Given the description of an element on the screen output the (x, y) to click on. 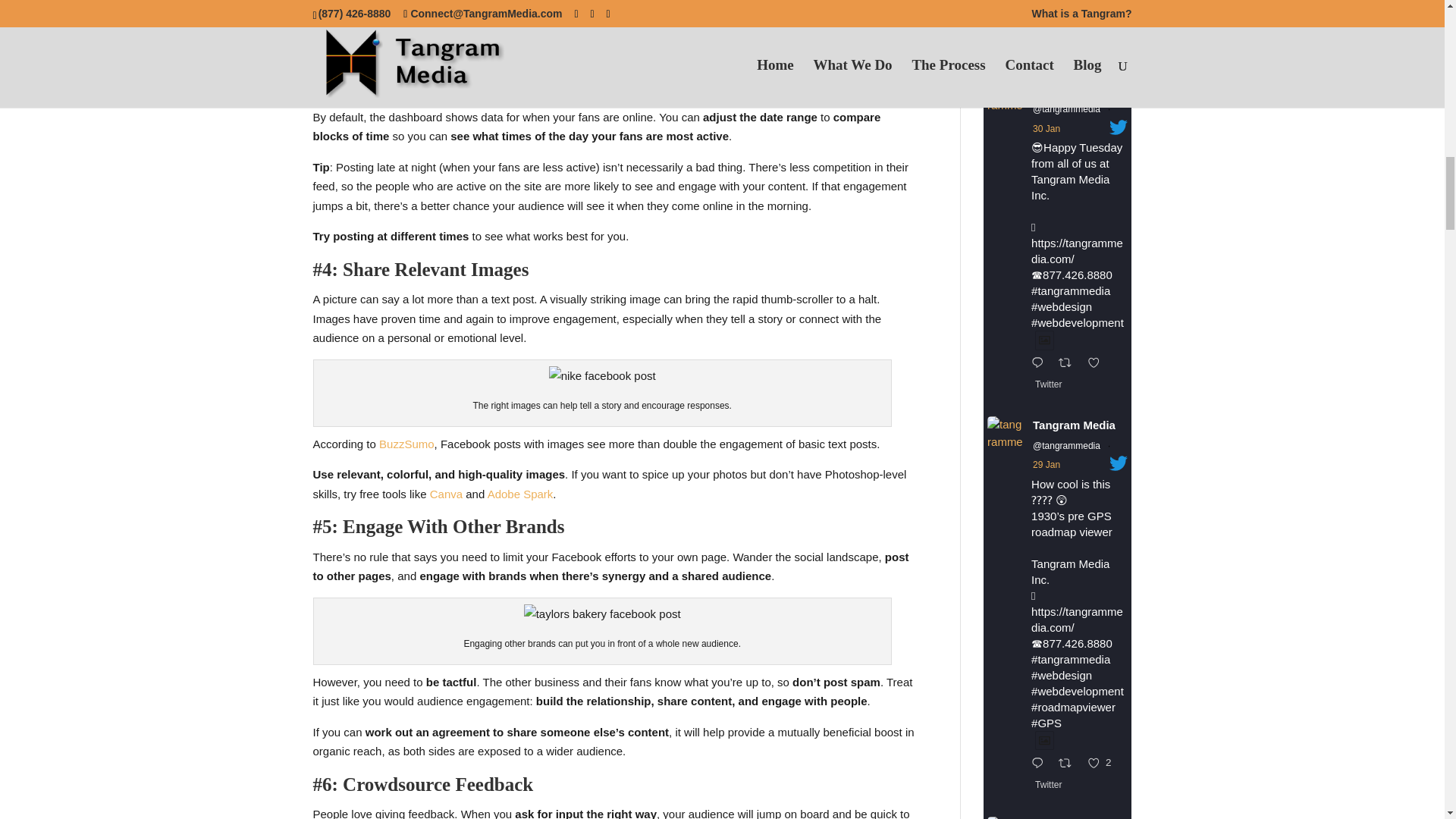
BuzzSumo (405, 443)
Canva (446, 493)
Facebook Insights (728, 66)
Adobe Spark (520, 493)
